Given the description of an element on the screen output the (x, y) to click on. 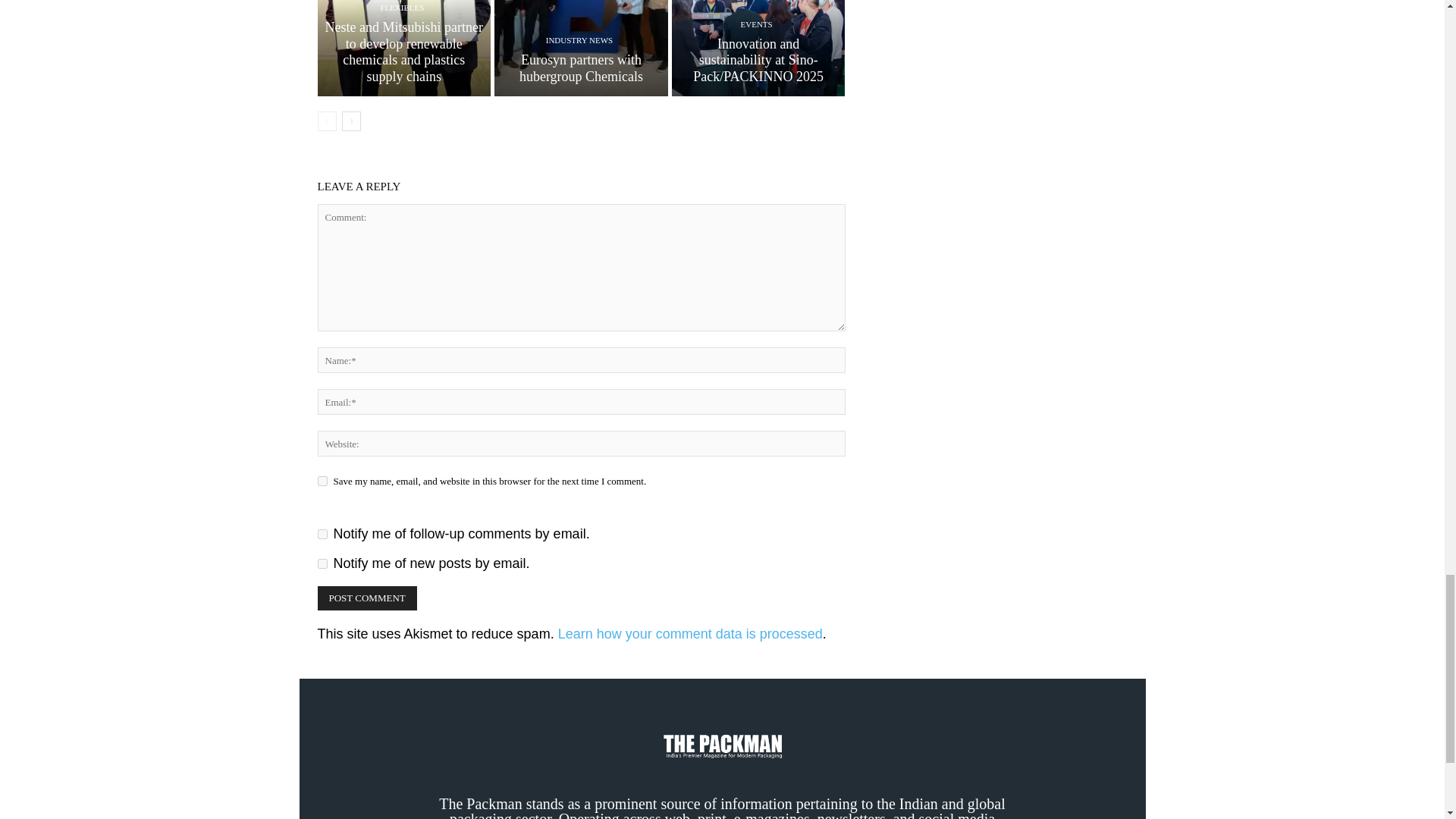
yes (321, 480)
subscribe (321, 563)
subscribe (321, 533)
Post Comment (366, 598)
